Given the description of an element on the screen output the (x, y) to click on. 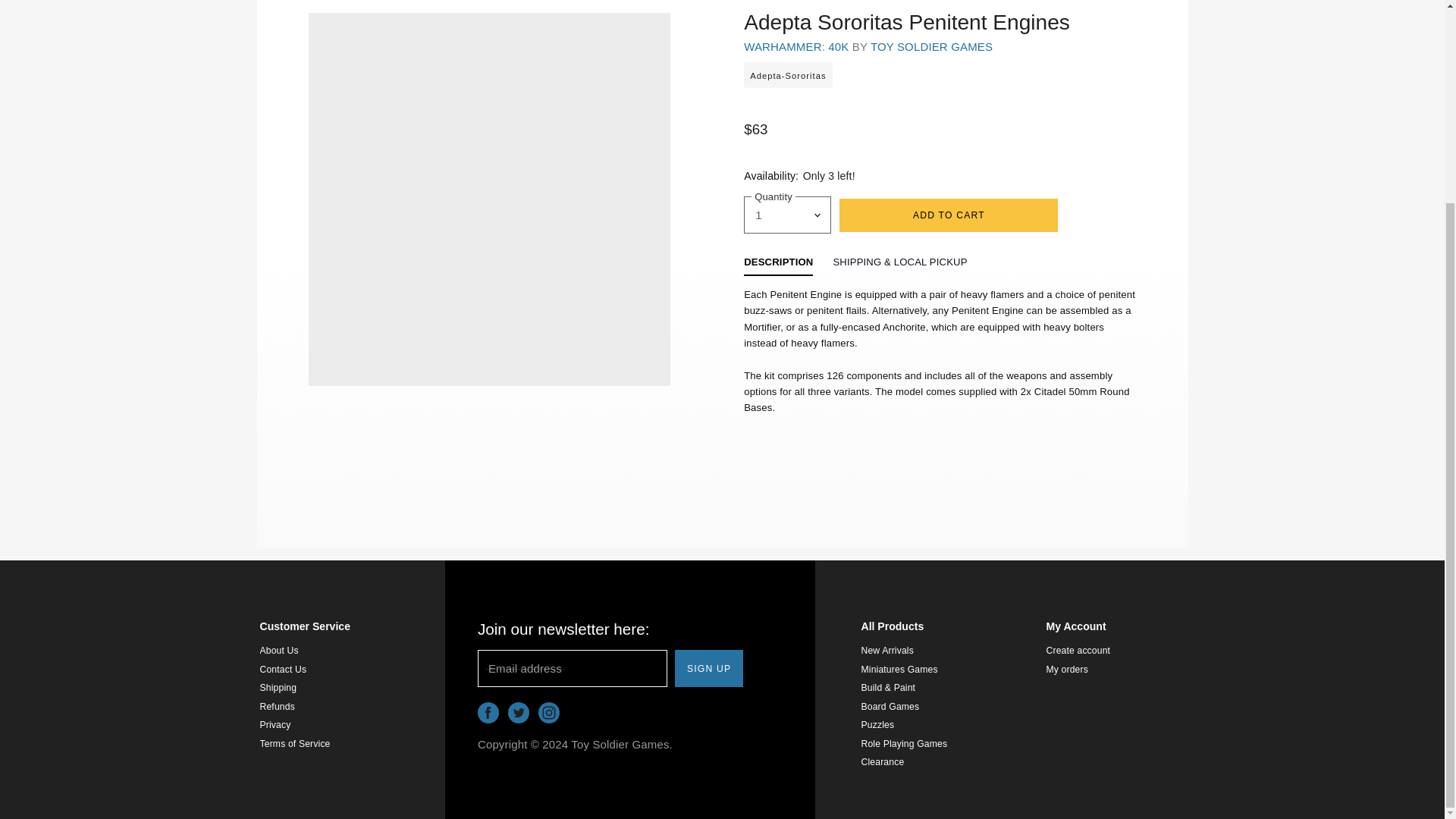
Instagram (548, 712)
Twitter (518, 712)
Toy Soldier Games (931, 46)
Facebook (488, 712)
